Given the description of an element on the screen output the (x, y) to click on. 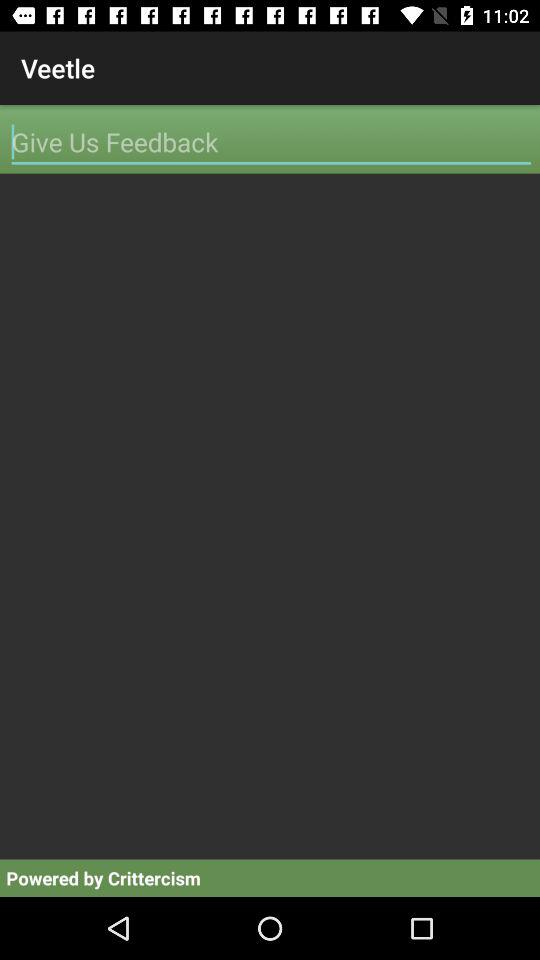
enter feedback (271, 142)
